Given the description of an element on the screen output the (x, y) to click on. 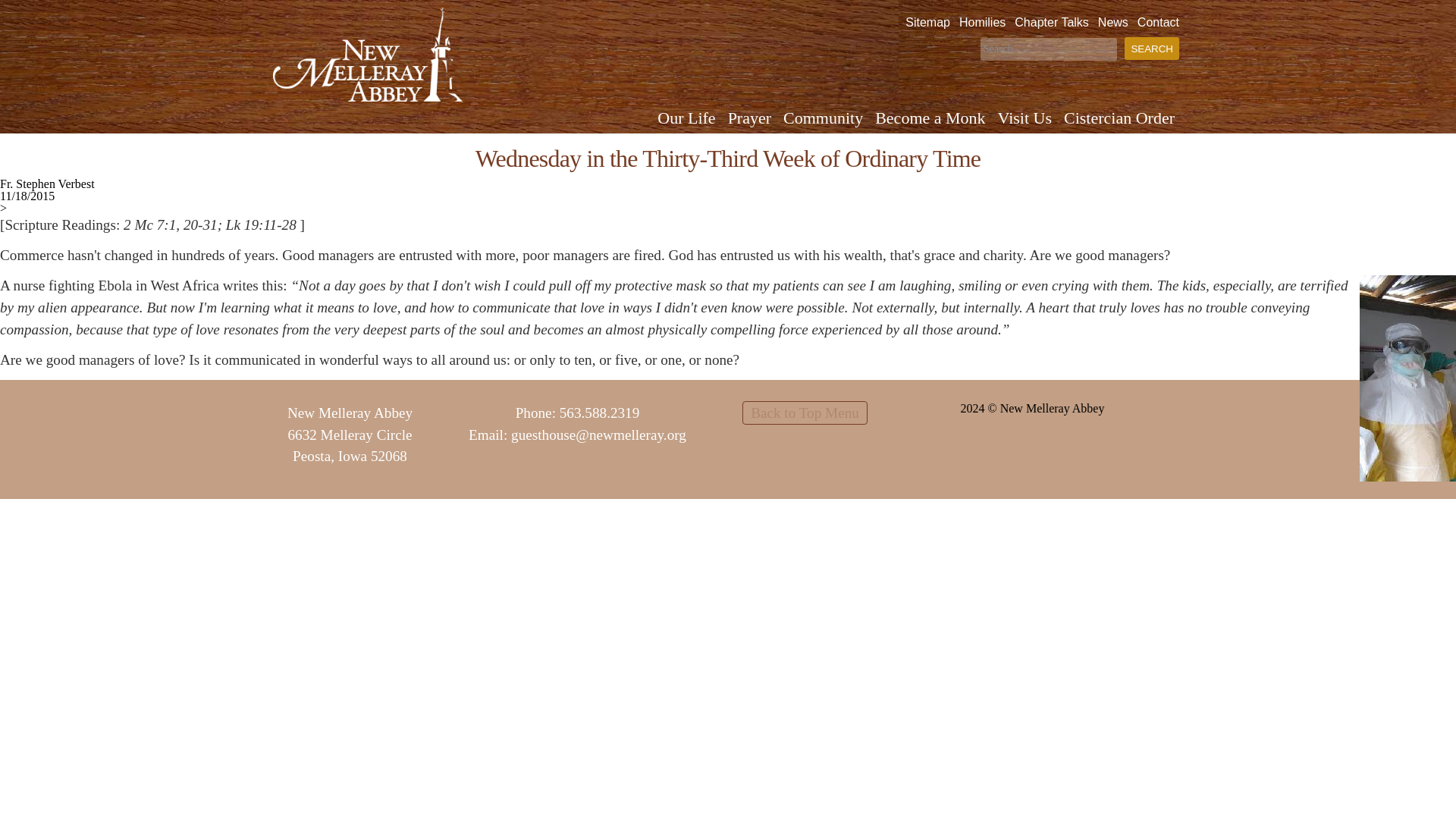
News (1112, 21)
Search (1151, 47)
Chapter Talks (1051, 21)
Our Life (688, 118)
Homilies (982, 21)
Search (1151, 47)
Sitemap (927, 21)
Community (824, 118)
Search (1151, 47)
Prayer (750, 118)
Contact (1158, 21)
